Given the description of an element on the screen output the (x, y) to click on. 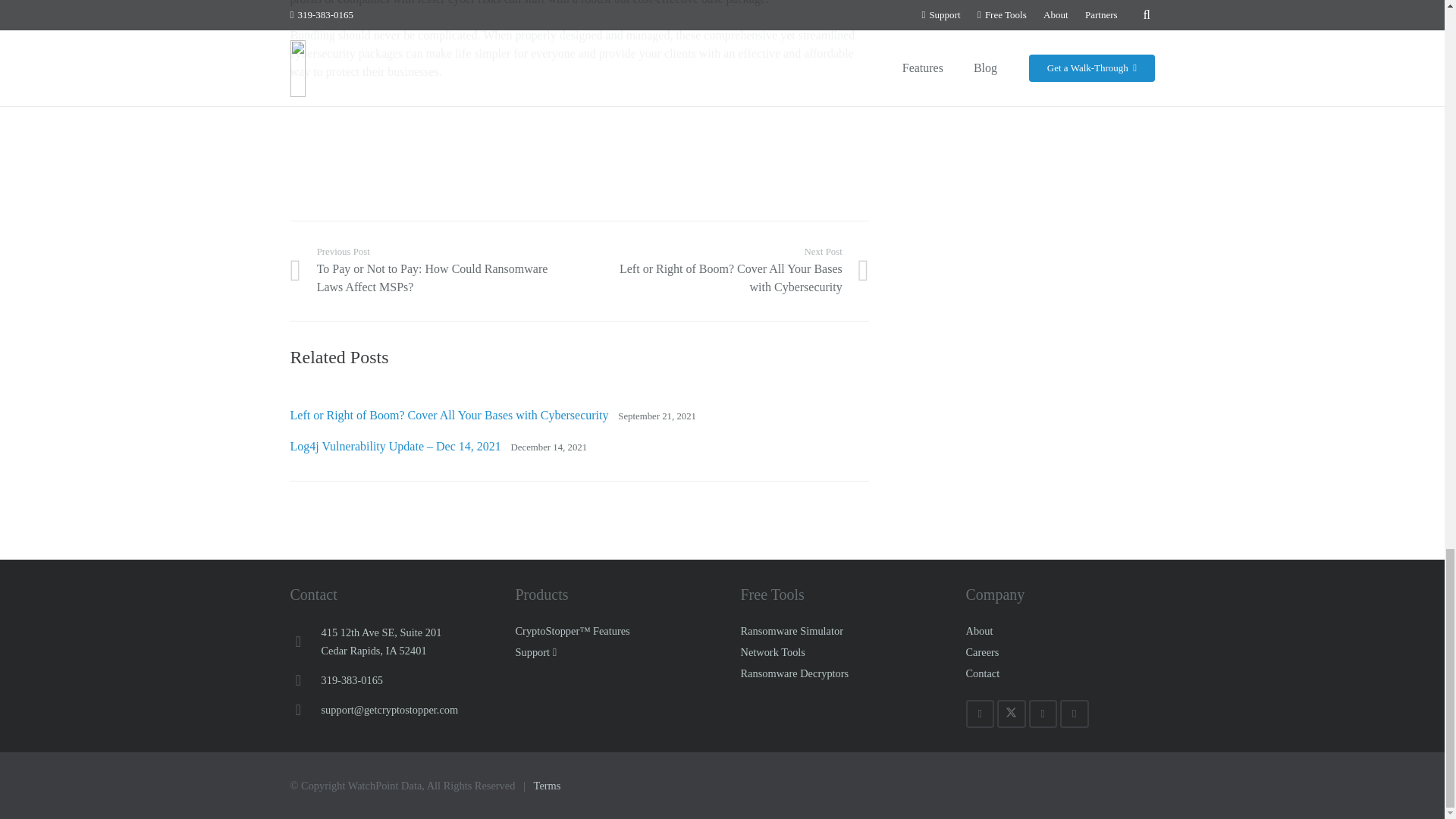
Network Tools (772, 652)
To Pay or Not to Pay: How Could Ransomware Laws Affect MSPs? (434, 269)
319-383-0165 (352, 680)
YouTube (381, 641)
Ransomware Simulator (1074, 714)
LinkedIn (791, 630)
Facebook (1042, 714)
